Given the description of an element on the screen output the (x, y) to click on. 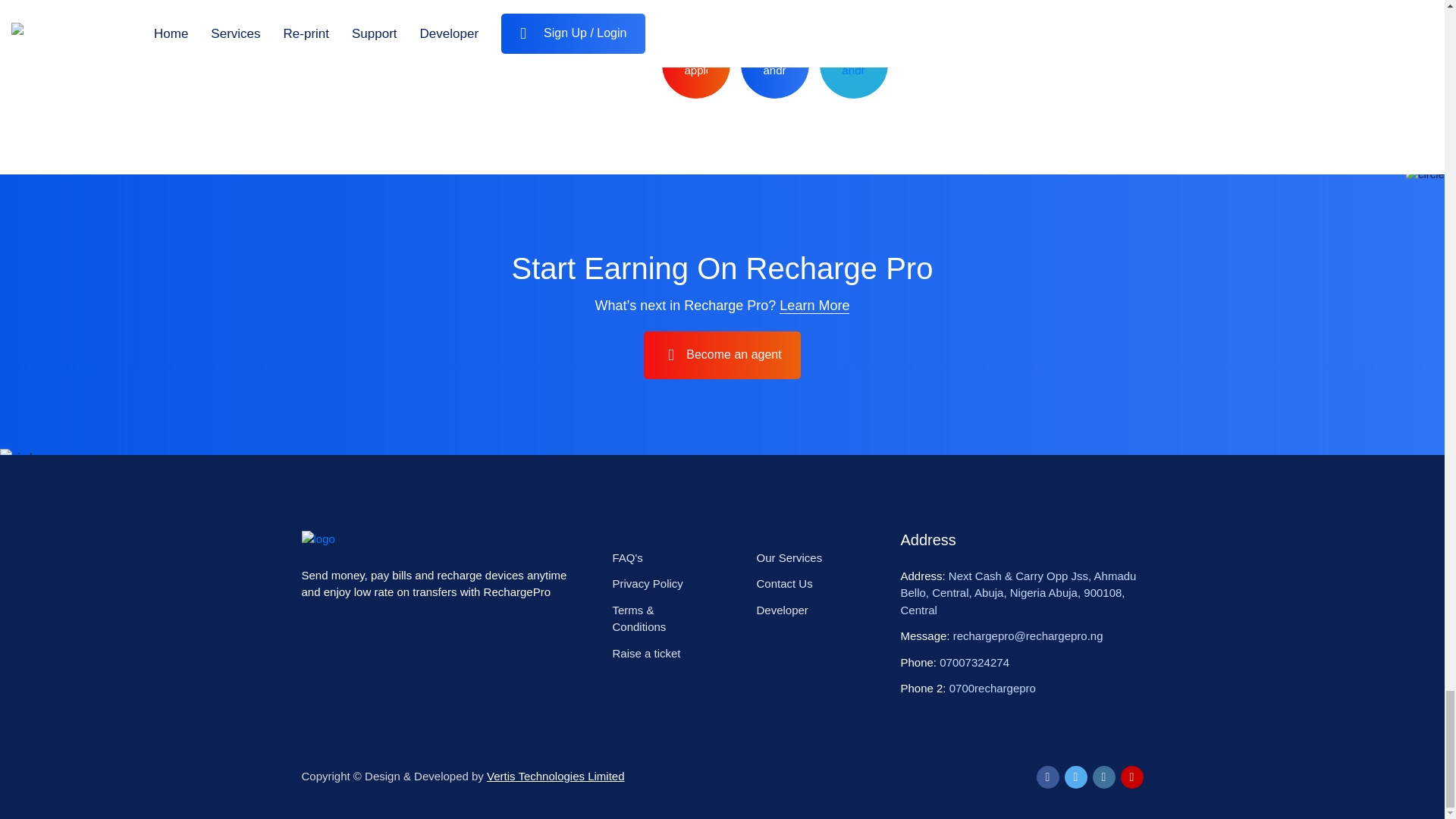
07007324274 (974, 662)
0700rechargepro (992, 687)
FAQ's (626, 557)
Learn More (813, 305)
Raise a ticket (645, 653)
Developer (781, 609)
Privacy Policy (646, 583)
Become an agent (721, 355)
Contact Us (783, 583)
Our Services (788, 557)
